Given the description of an element on the screen output the (x, y) to click on. 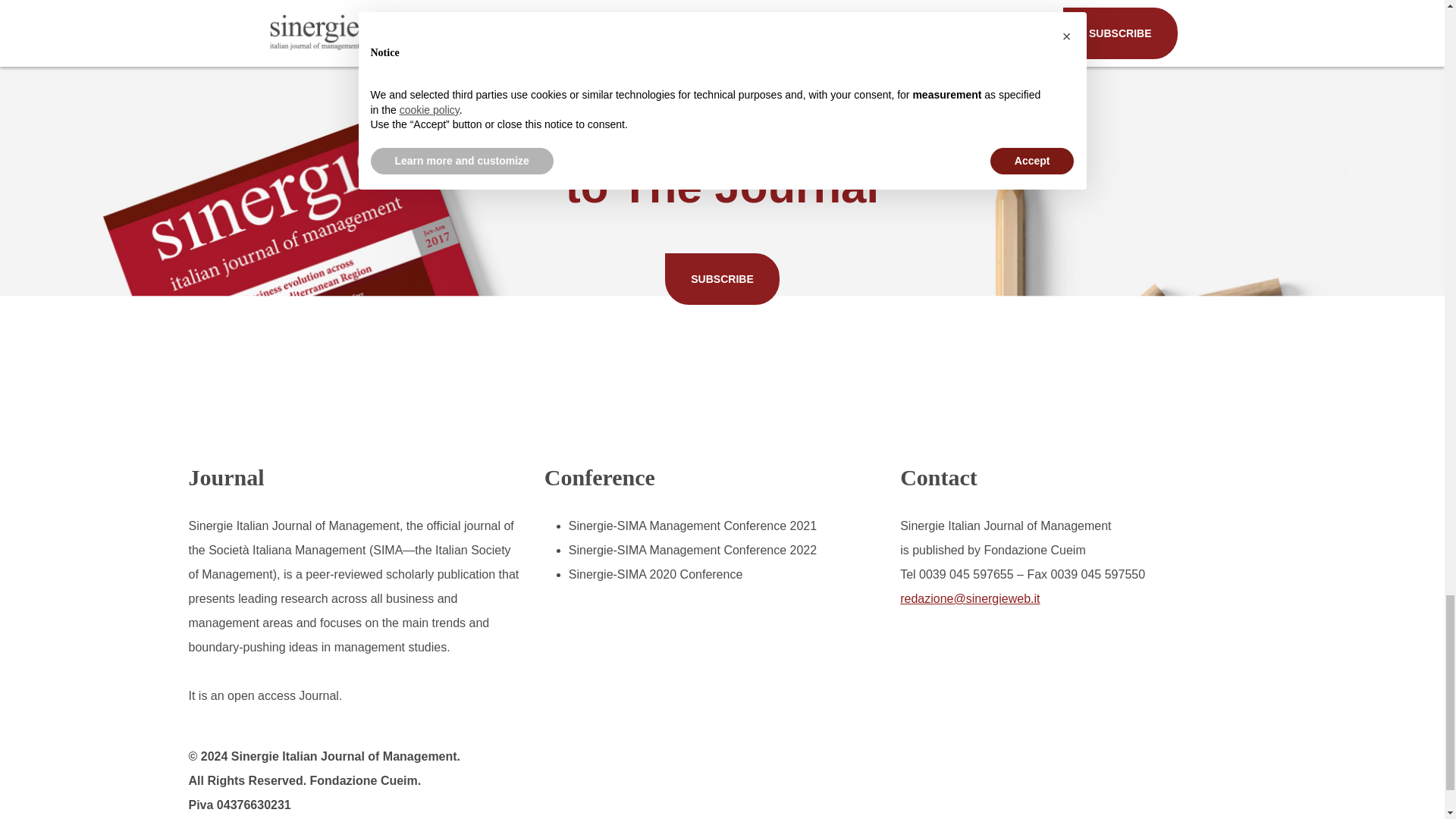
Sinergie-SIMA Management Conference 2022 (692, 549)
JOURNAL (216, 20)
SUBSCRIBE (721, 278)
Sinergie-SIMA Management Conference 2021 (692, 525)
